Given the description of an element on the screen output the (x, y) to click on. 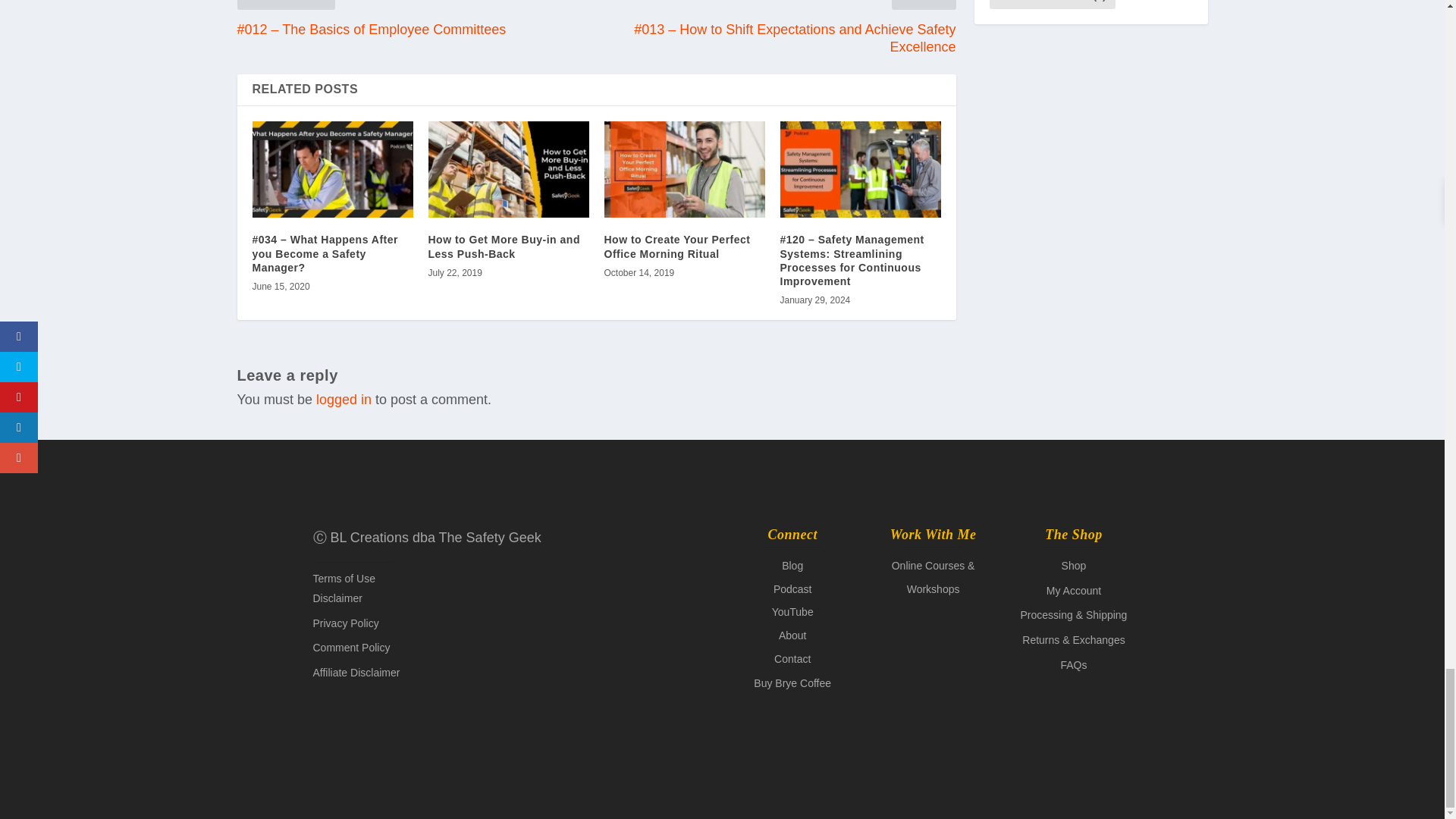
How to Create Your Perfect Office Morning Ritual (684, 169)
How to Get More Buy-in and Less Push-Back (503, 246)
How to Get More Buy-in and Less Push-Back (508, 169)
How to Create Your Perfect Office Morning Ritual (676, 246)
logged in (343, 399)
